Given the description of an element on the screen output the (x, y) to click on. 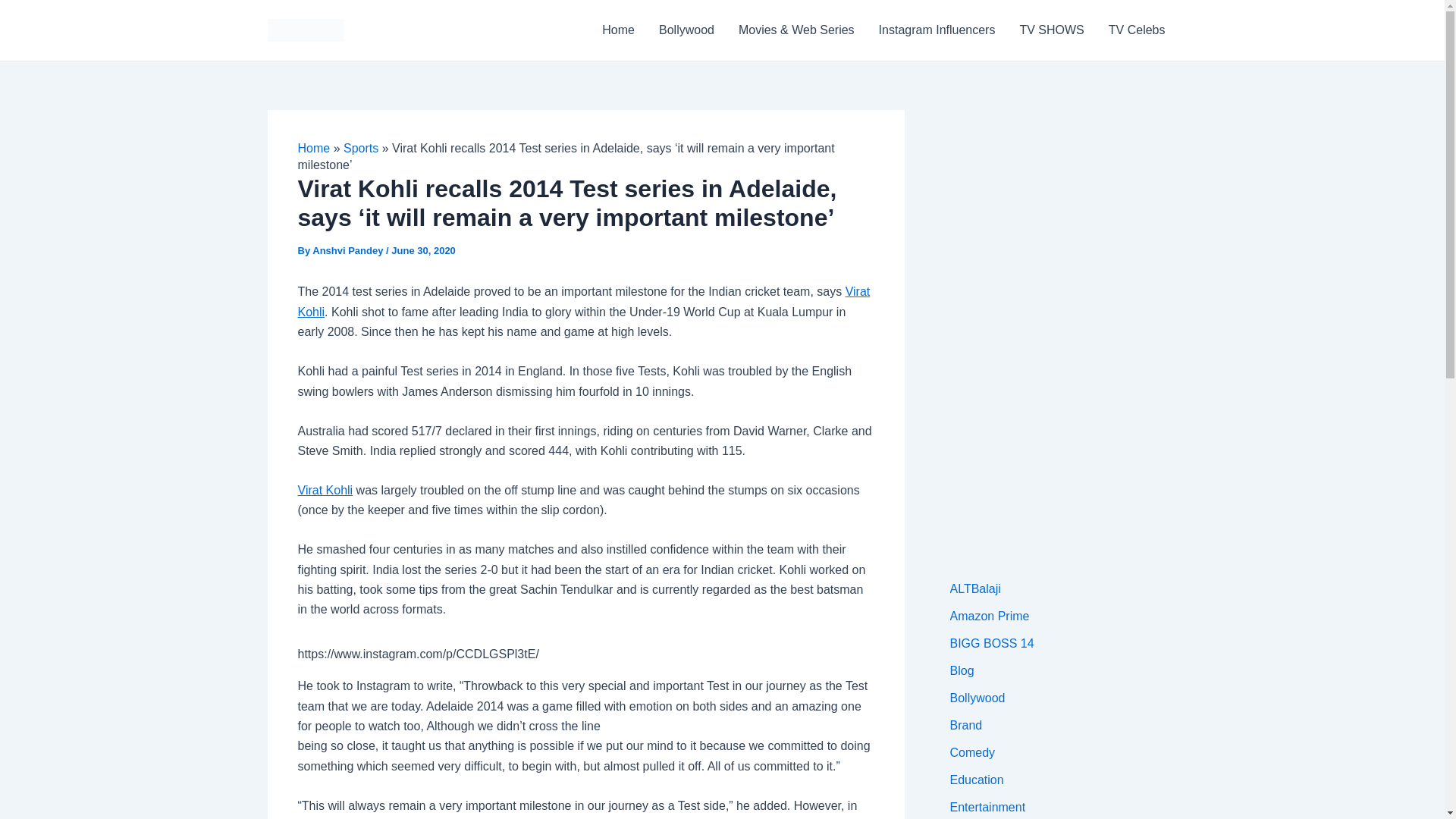
Home (313, 147)
TV SHOWS (1051, 30)
View all posts by Anshvi Pandey (349, 250)
Home (617, 30)
Virat Kohli (583, 301)
Virat Kohli (324, 490)
Instagram Influencers (936, 30)
TV Celebs (1136, 30)
Anshvi Pandey (349, 250)
Bollywood (686, 30)
Sports (360, 147)
